Given the description of an element on the screen output the (x, y) to click on. 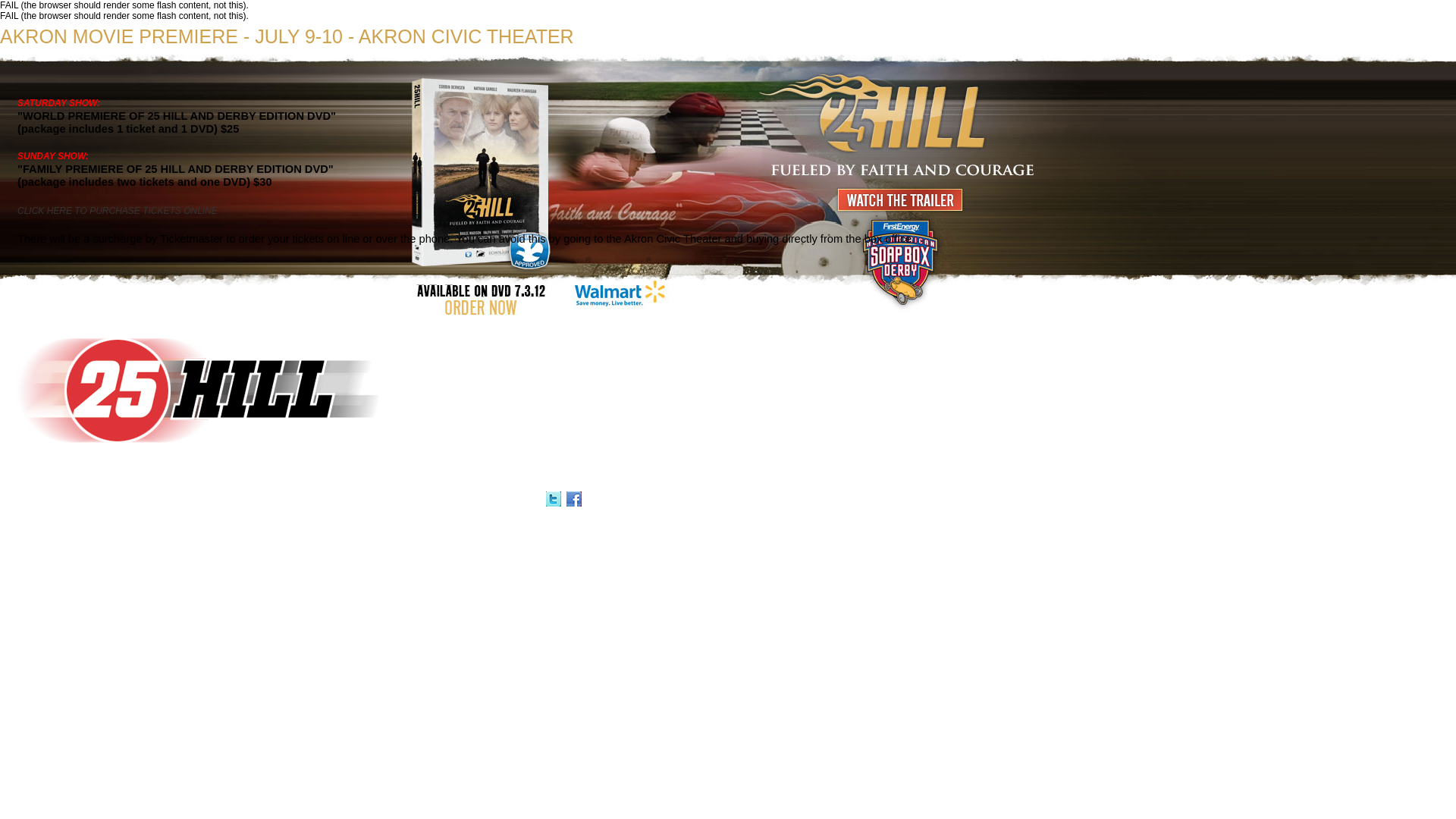
ABOUT Element type: text (40, 499)
CLICK HERE TO PURCHASE TICKETS ONLINE Element type: text (117, 210)
HOME Element type: text (12, 499)
SPONSORS & LINKS Element type: text (169, 499)
BEHIND THE SCENES Element type: text (94, 499)
BLOG Element type: text (219, 499)
NEWS & PRESS Element type: text (329, 499)
STORE Element type: text (411, 499)
CONTACT Element type: text (377, 499)
PHOTOS & VIDEOS Element type: text (265, 499)
